Given the description of an element on the screen output the (x, y) to click on. 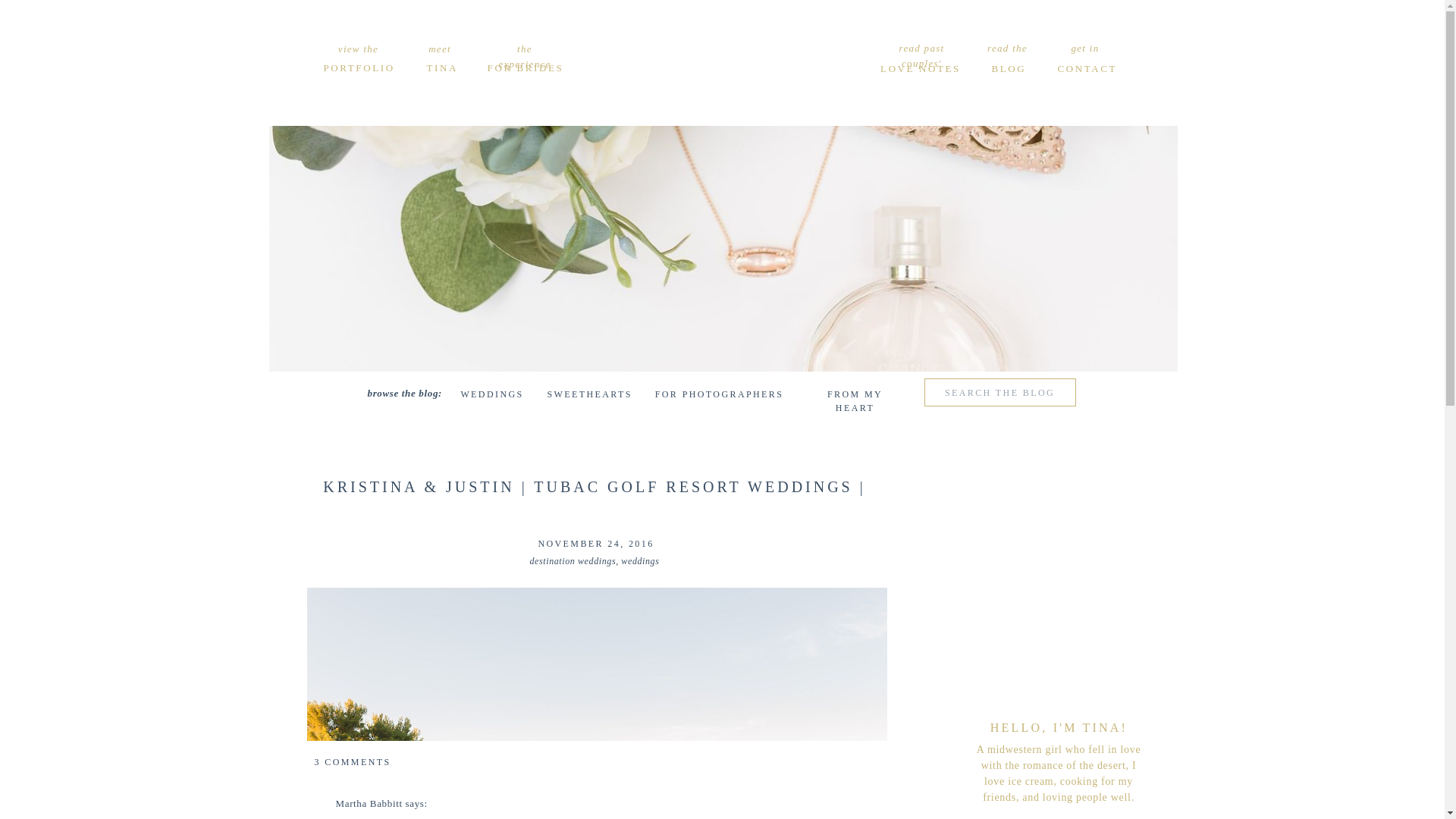
FOR PHOTOGRAPHERS (719, 395)
FOR BRIDES (524, 67)
TINA (440, 67)
read the (1007, 47)
destination weddings (572, 561)
BLOG (1008, 68)
WEDDINGS (492, 395)
LOVE NOTES (919, 68)
SWEETHEARTS (589, 395)
FROM MY HEART (854, 395)
PORTFOLIO (358, 67)
the experience (524, 48)
get in (1085, 47)
read past couples' (921, 47)
